Given the description of an element on the screen output the (x, y) to click on. 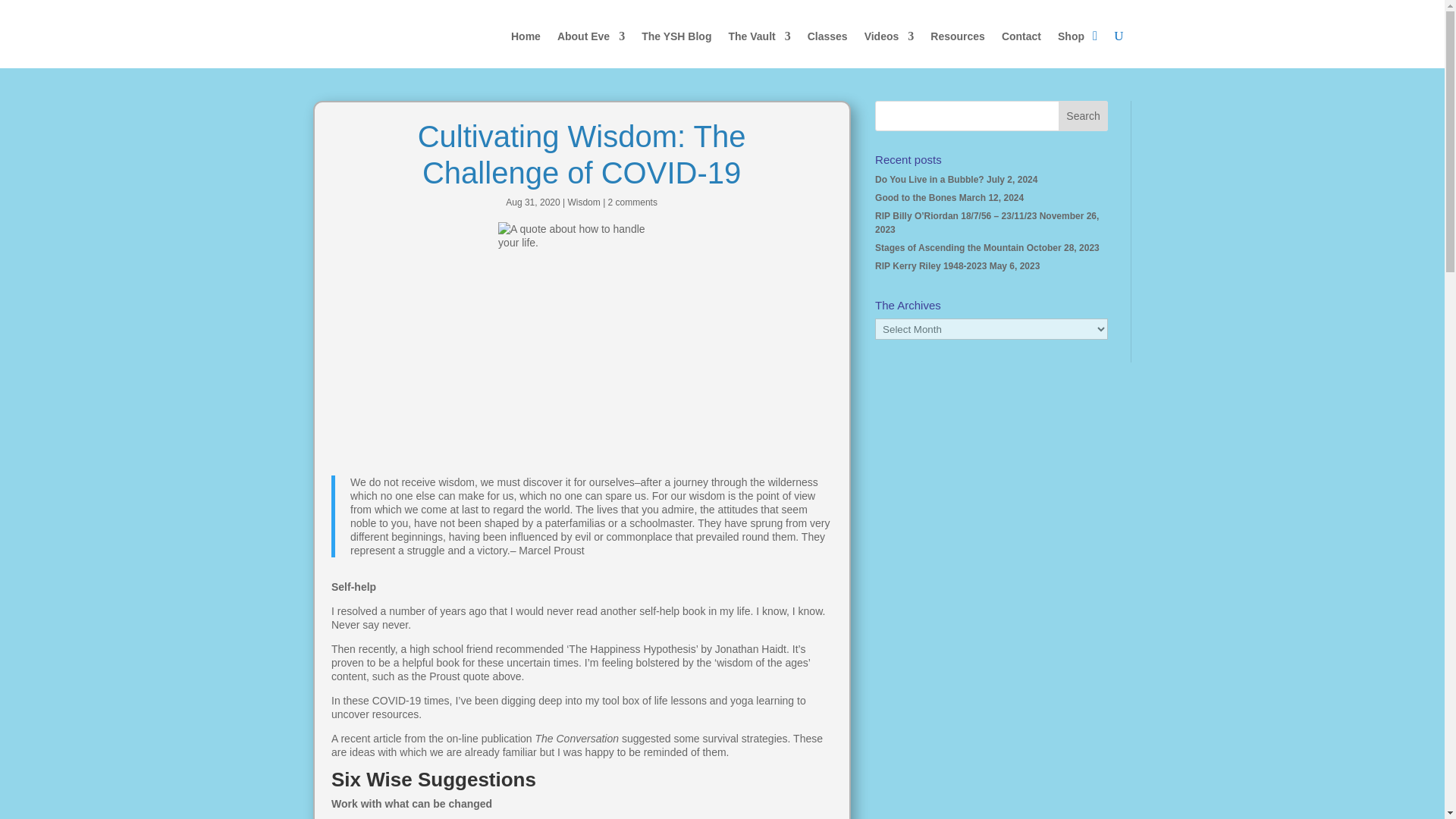
The Vault (759, 36)
2 comments (633, 202)
Wisdom (583, 202)
Resources (957, 36)
About Eve (590, 36)
The YSH Blog (676, 36)
Search (1083, 115)
